Given the description of an element on the screen output the (x, y) to click on. 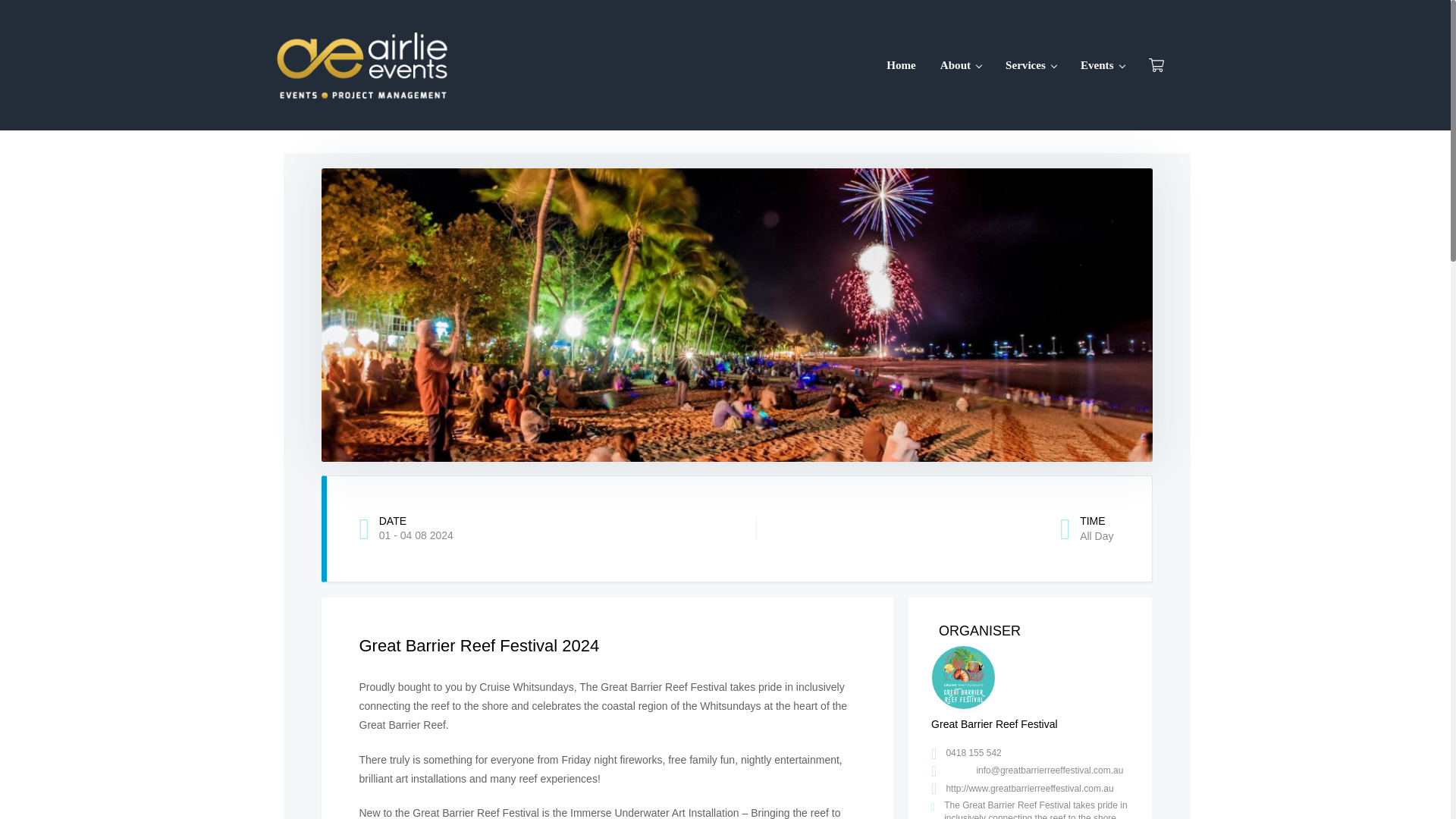
Services (1030, 64)
Events (1102, 64)
Home (901, 64)
About (960, 64)
0418 155 542 (972, 753)
